Given the description of an element on the screen output the (x, y) to click on. 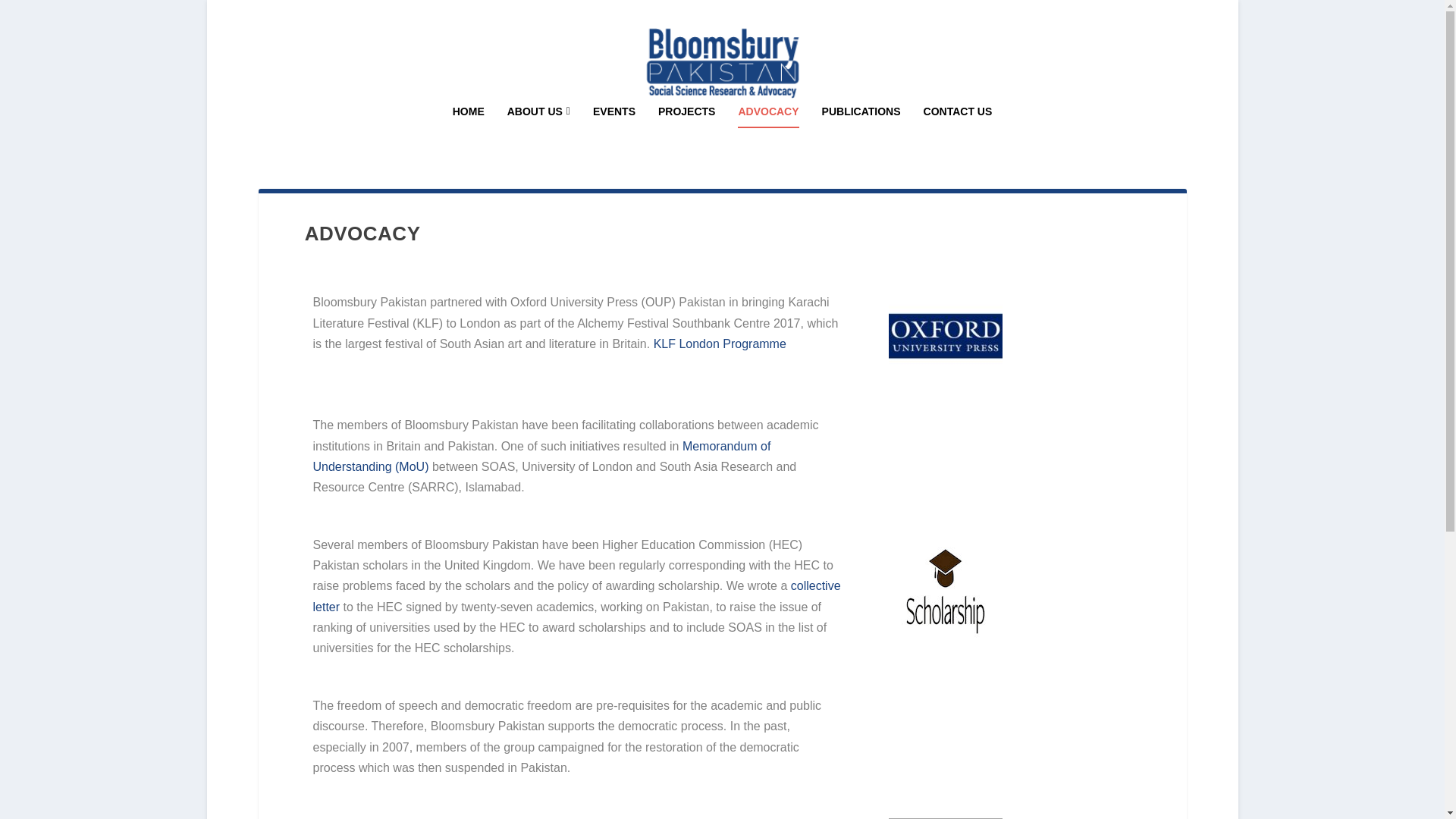
PROJECTS (686, 131)
collective letter (576, 595)
CONTACT US (957, 131)
KLF London Programme (719, 343)
ADVOCACY (767, 131)
PUBLICATIONS (861, 131)
ABOUT US (538, 131)
